Given the description of an element on the screen output the (x, y) to click on. 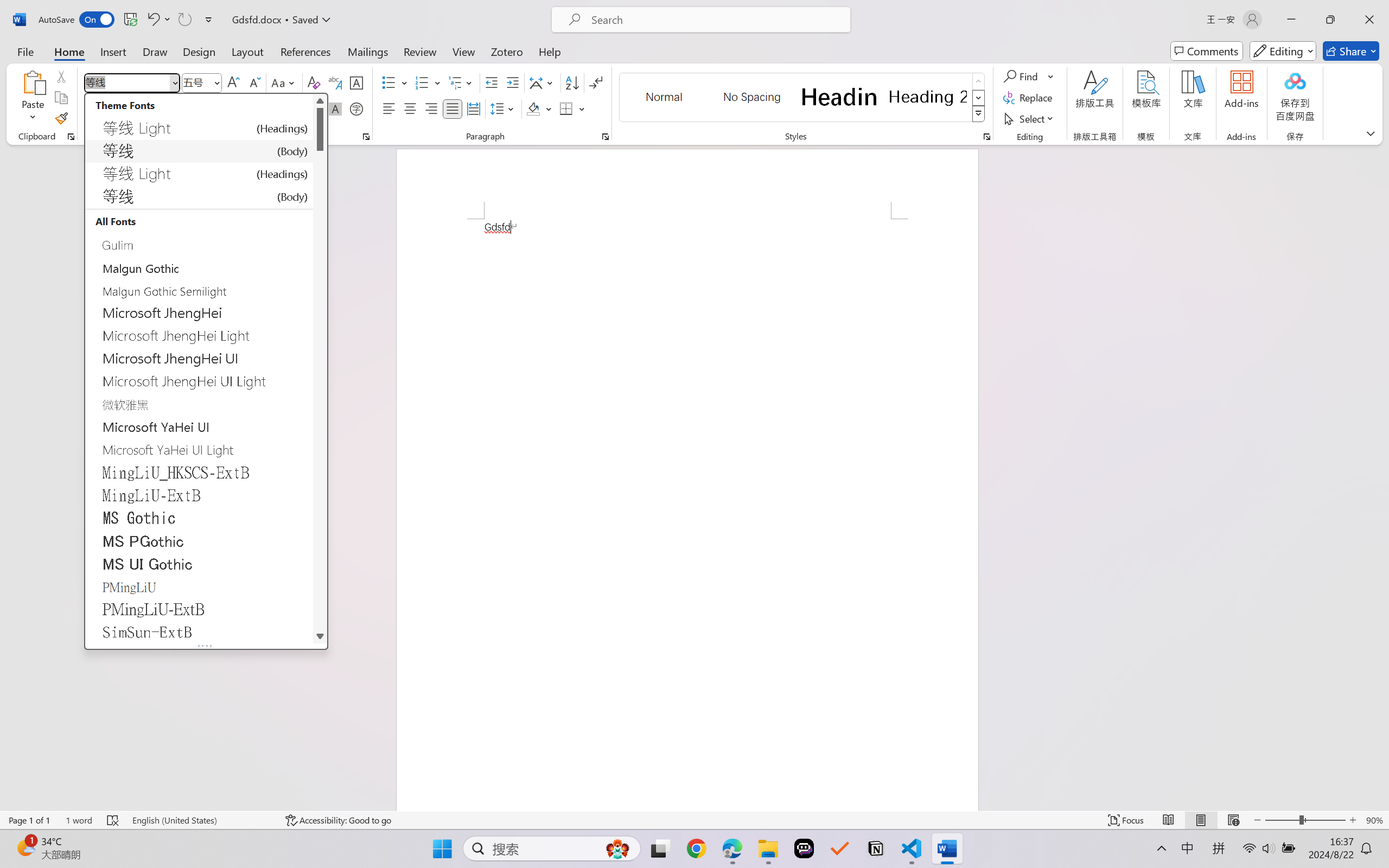
Line and Paragraph Spacing (503, 108)
Text Effects and Typography (241, 108)
Enclose Characters... (356, 108)
Line down (319, 636)
Phonetic Guide... (334, 82)
Grow Font (233, 82)
